Given the description of an element on the screen output the (x, y) to click on. 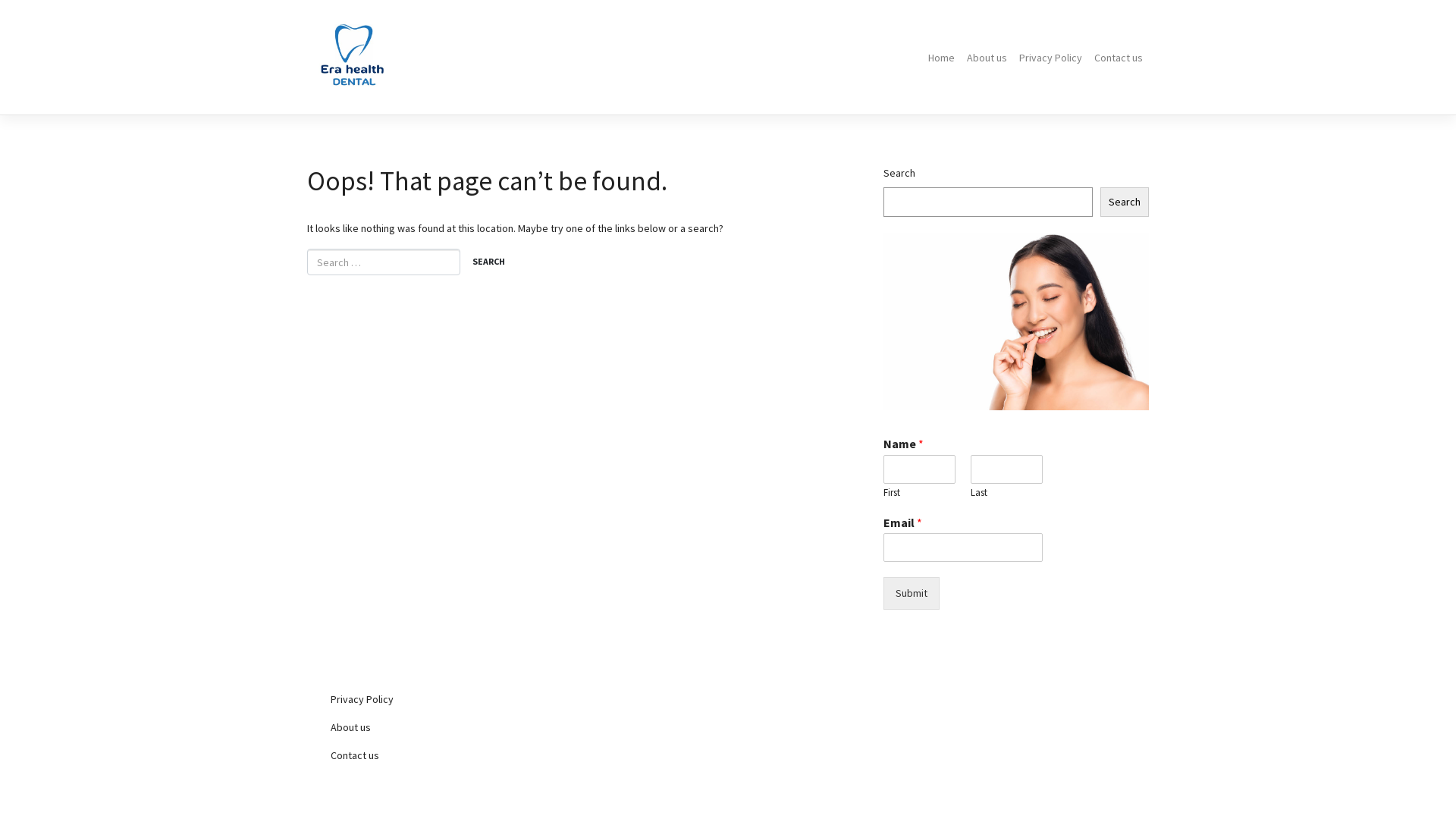
Contact us Element type: text (1118, 57)
Privacy Policy Element type: text (447, 699)
Search Element type: text (488, 263)
Submit Element type: text (911, 593)
Privacy Policy Element type: text (1050, 57)
Search for: Element type: hover (383, 261)
Search Element type: text (1124, 201)
Home Element type: text (941, 57)
Contact us Element type: text (447, 755)
About us Element type: text (986, 57)
About us Element type: text (447, 727)
